Given the description of an element on the screen output the (x, y) to click on. 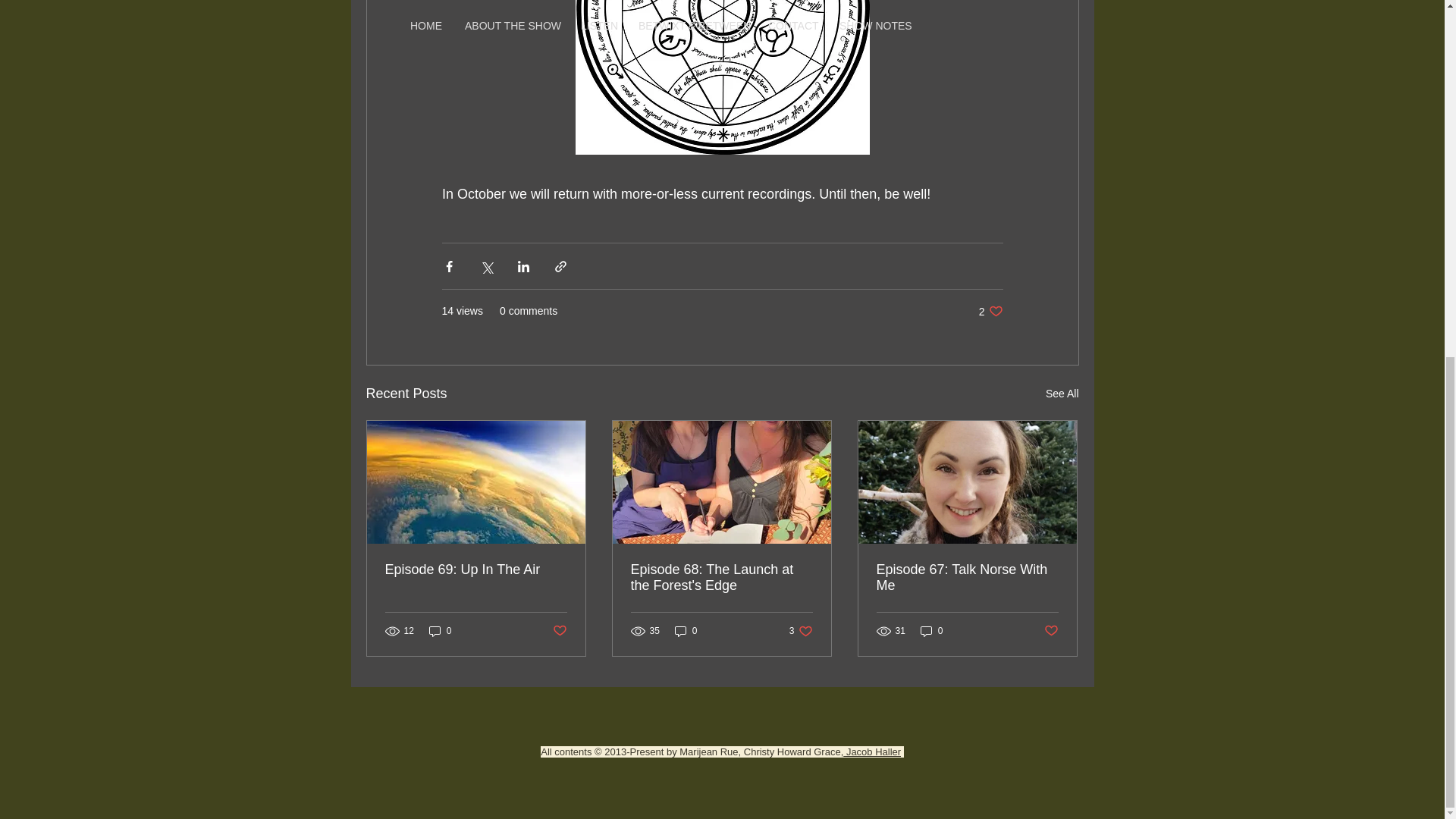
Episode 69: Up In The Air (476, 569)
Post not marked as liked (558, 631)
0 (931, 631)
Post not marked as liked (1050, 631)
Jacob Haller (872, 751)
See All (1061, 393)
Episode 67: Talk Norse With Me (967, 577)
0 (440, 631)
0 (990, 310)
